Given the description of an element on the screen output the (x, y) to click on. 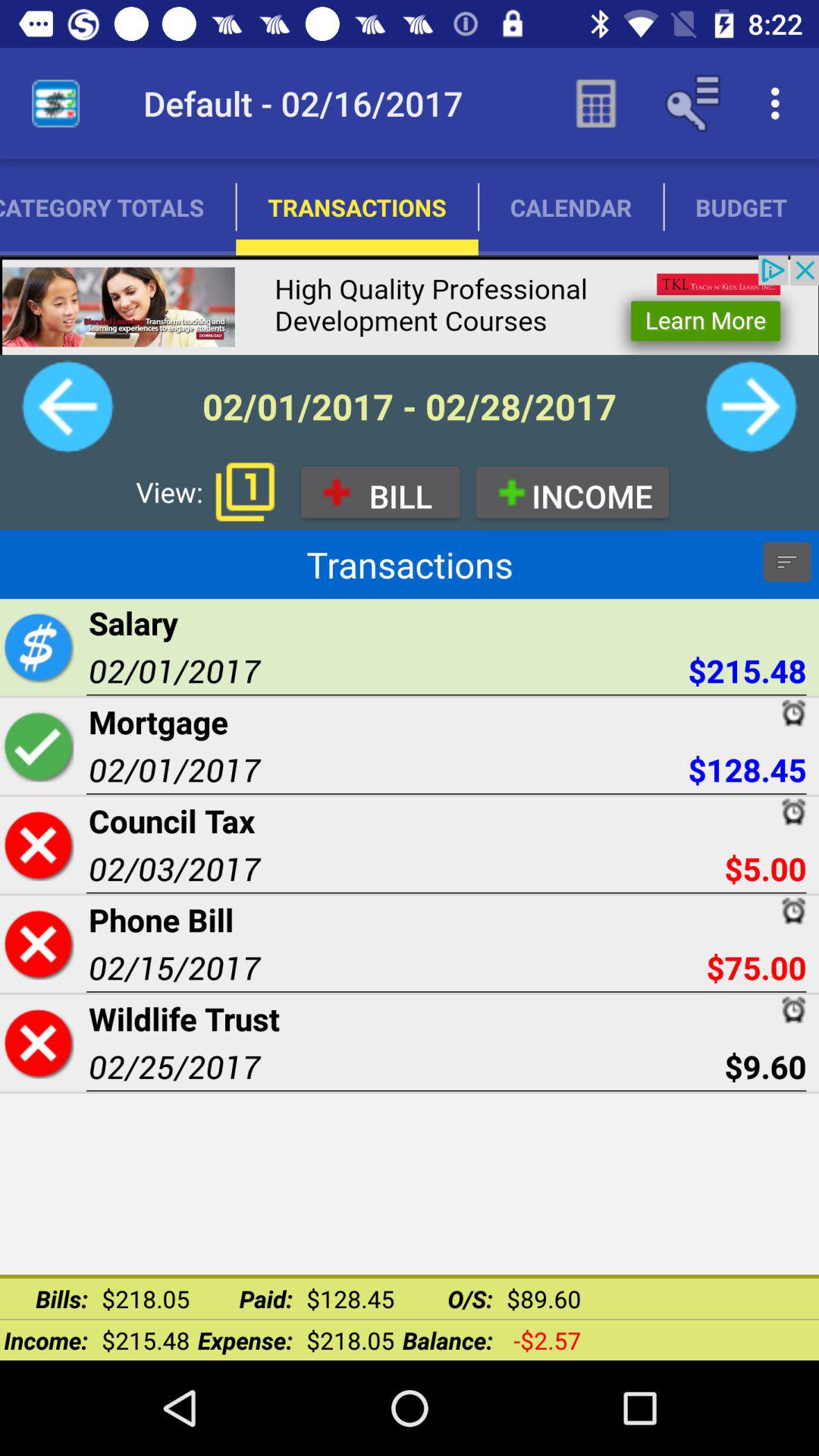
remove item (37, 943)
